Given the description of an element on the screen output the (x, y) to click on. 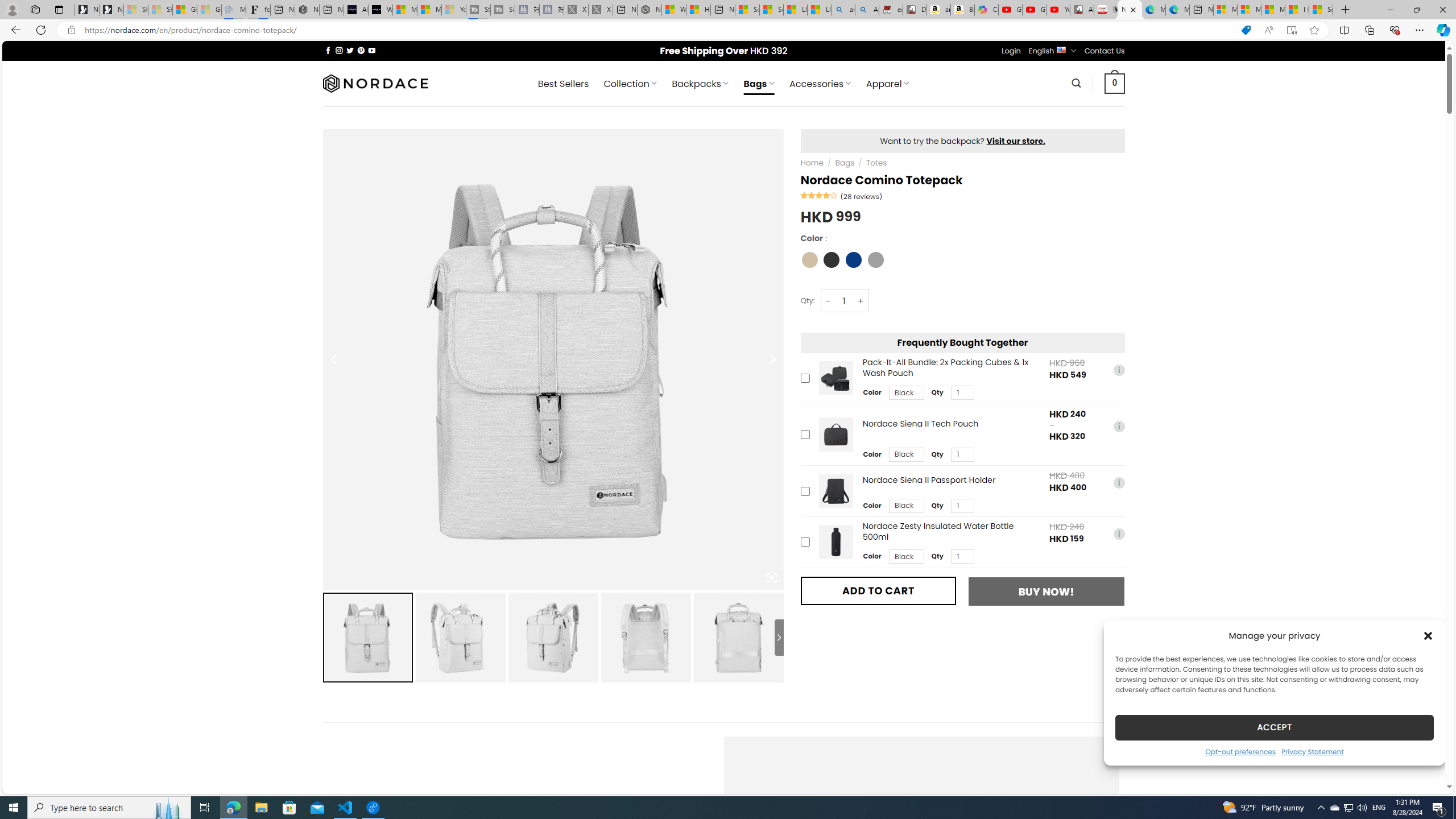
Bags (844, 162)
What's the best AI voice generator? - voice.ai (380, 9)
 Best Sellers (563, 83)
Nordace - My Account (648, 9)
Copilot (986, 9)
- (827, 300)
Login (1010, 50)
Pack-It-All Bundle: 2x Packing Cubes & 1x Wash Pouch (835, 378)
